Given the description of an element on the screen output the (x, y) to click on. 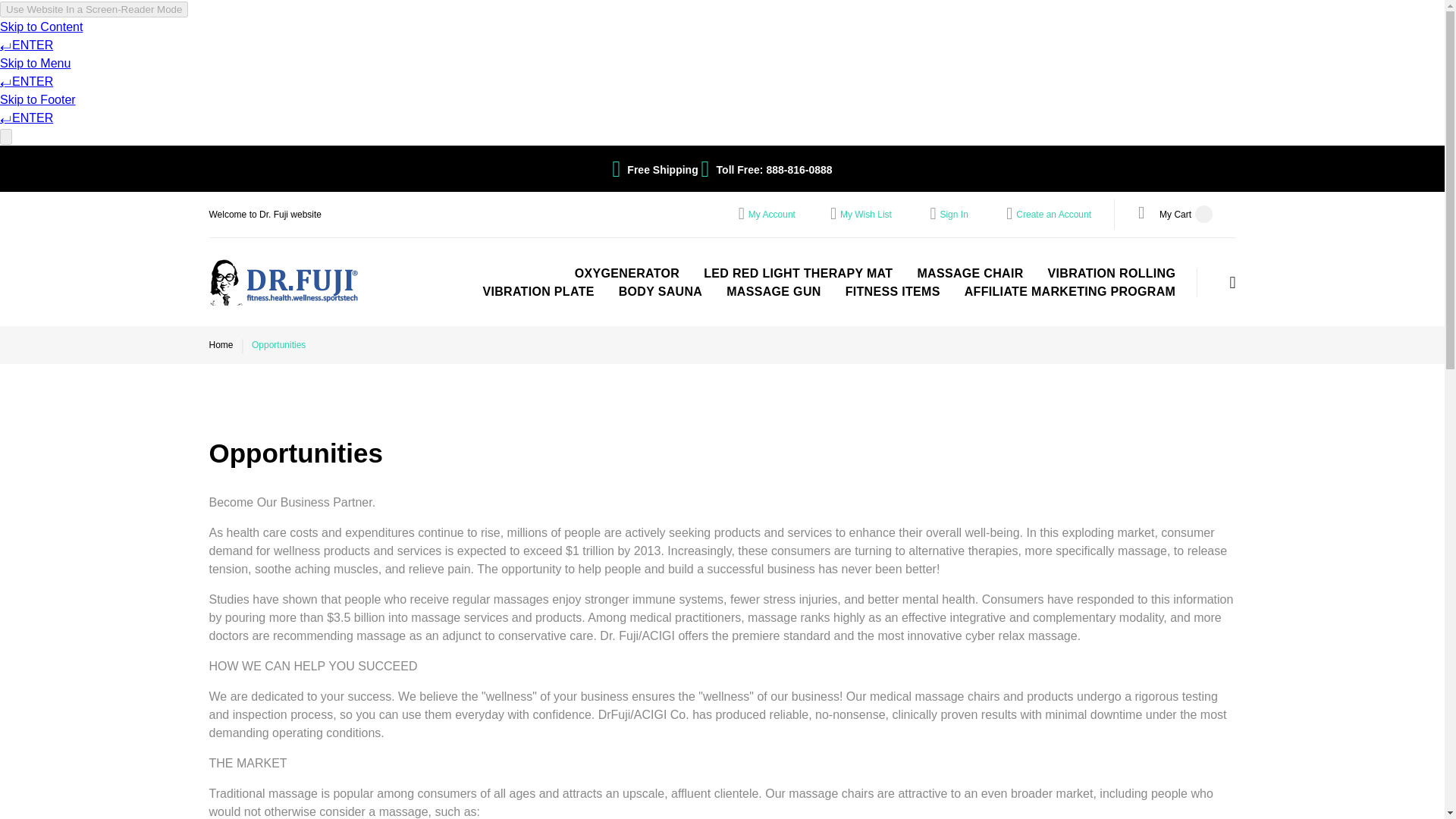
FITNESS ITEMS (892, 290)
MASSAGE GUN (773, 290)
AFFILIATE MARKETING PROGRAM (1069, 290)
VIBRATION ROLLING (1112, 272)
My Cart (1174, 214)
My Wish List (865, 214)
My Account (771, 214)
Create an Account (1053, 214)
BODY SAUNA (659, 290)
VIBRATION PLATE (537, 290)
